Given the description of an element on the screen output the (x, y) to click on. 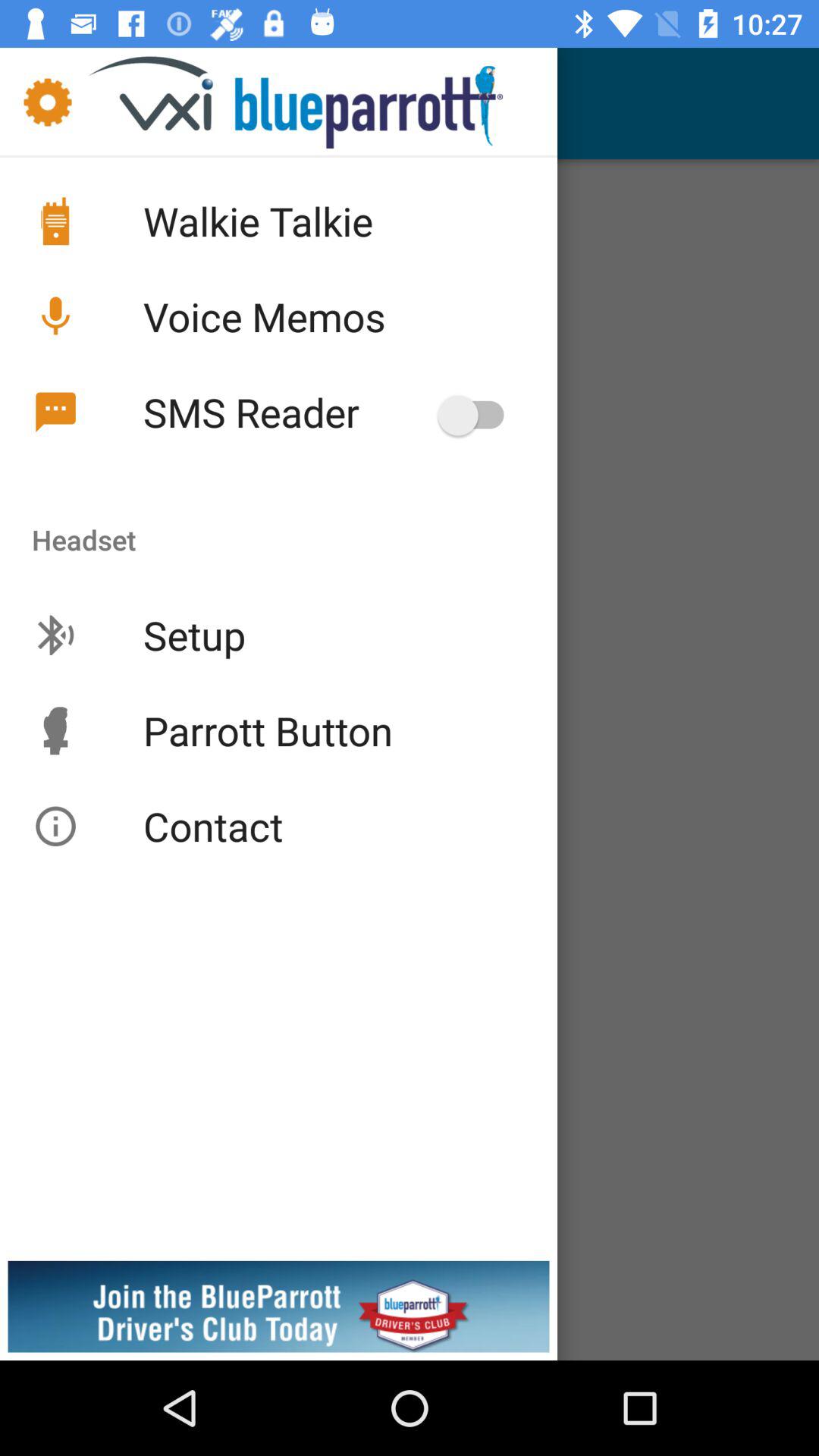
select the image below contact (278, 1309)
click on the banner at the bottom (409, 1258)
click on the text below notification bar (314, 101)
